Given the description of an element on the screen output the (x, y) to click on. 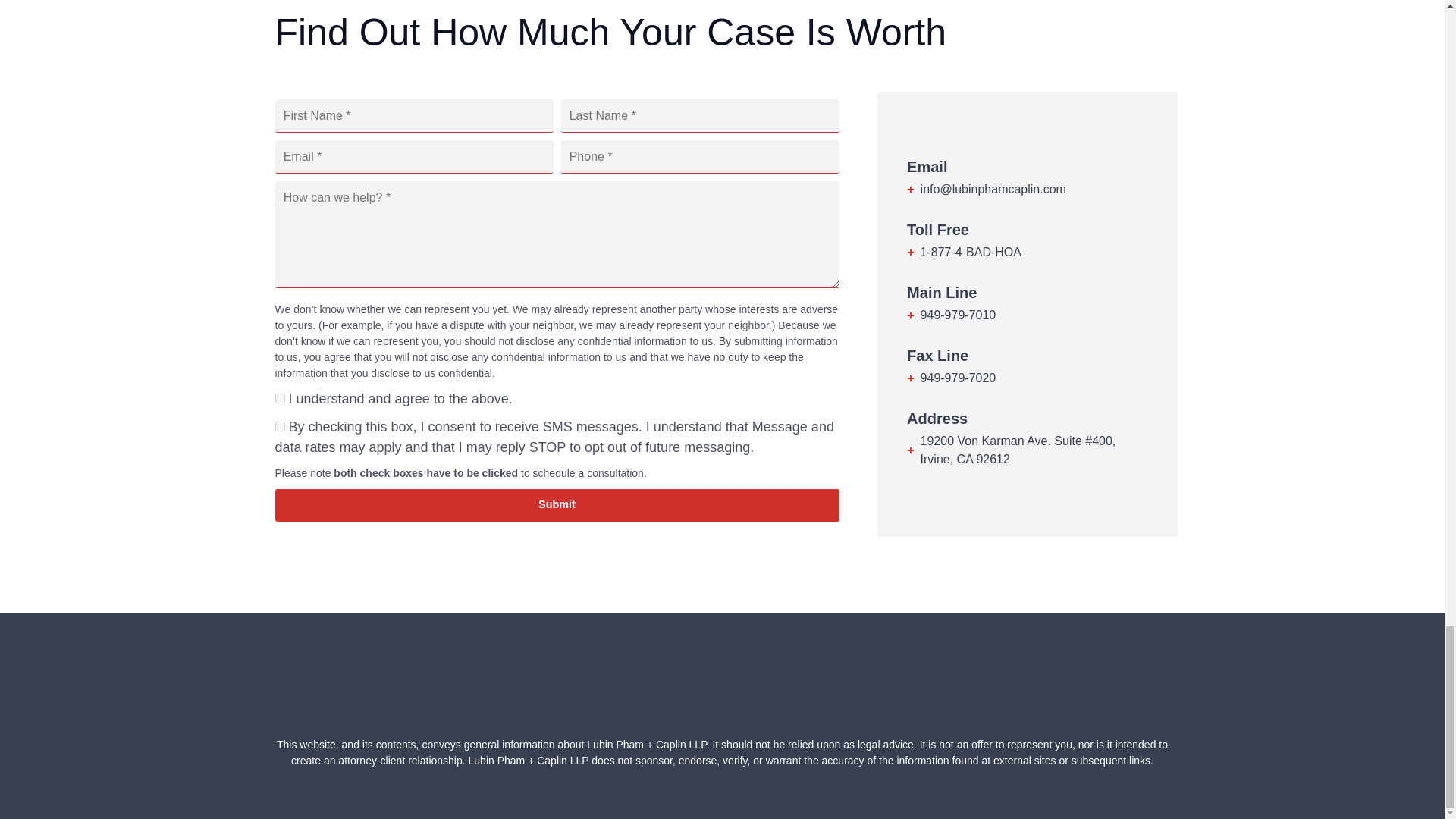
949-979-7020 (1027, 378)
1-877-4-BAD-HOA (1027, 252)
949-979-7010 (1027, 315)
Submit (556, 504)
1 (279, 426)
1 (279, 398)
Submit (556, 504)
